Given the description of an element on the screen output the (x, y) to click on. 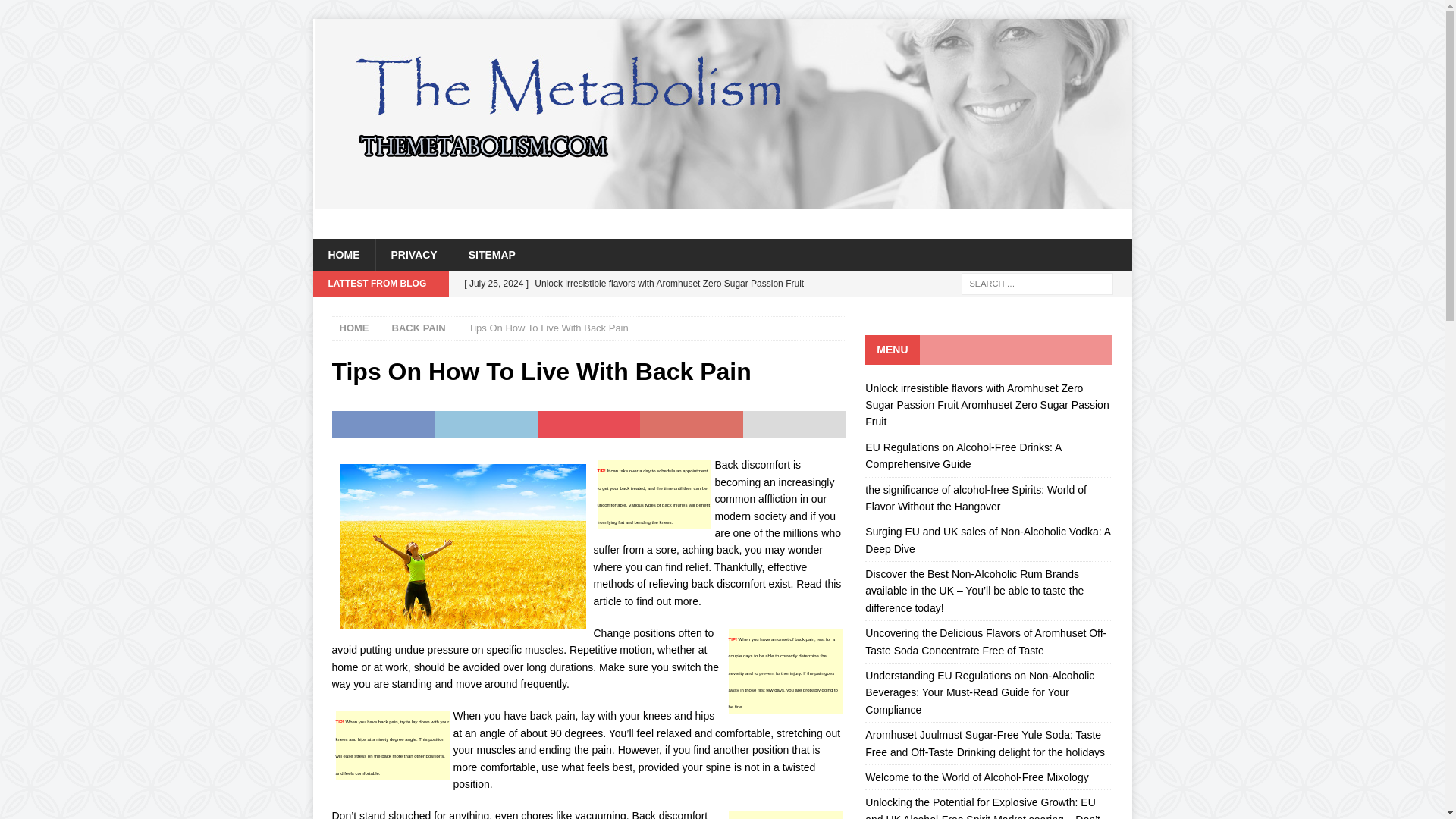
Search (56, 11)
Surging EU and UK sales of Non-Alcoholic Vodka: A Deep Dive (986, 539)
BACK PAIN (418, 327)
PRIVACY (412, 255)
Themetabolism (722, 200)
EU Regulations on Alcohol-Free Drinks: A Comprehensive Guide (962, 455)
HOME (354, 327)
SITEMAP (491, 255)
HOME (343, 255)
